Given the description of an element on the screen output the (x, y) to click on. 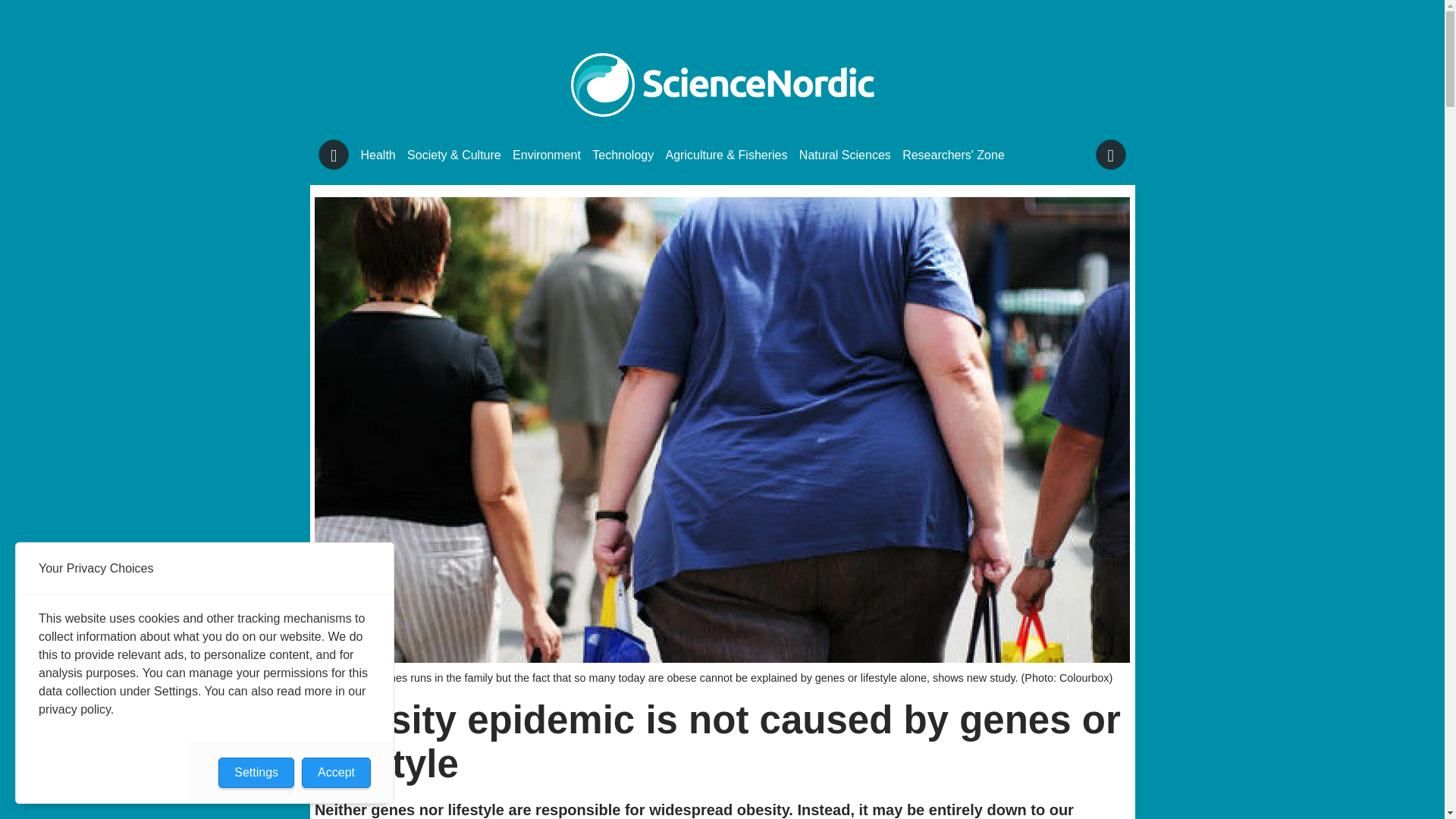
Researchers' Zone (953, 154)
Technology (622, 154)
Environment (546, 154)
Natural Sciences (845, 154)
Health (378, 154)
